Given the description of an element on the screen output the (x, y) to click on. 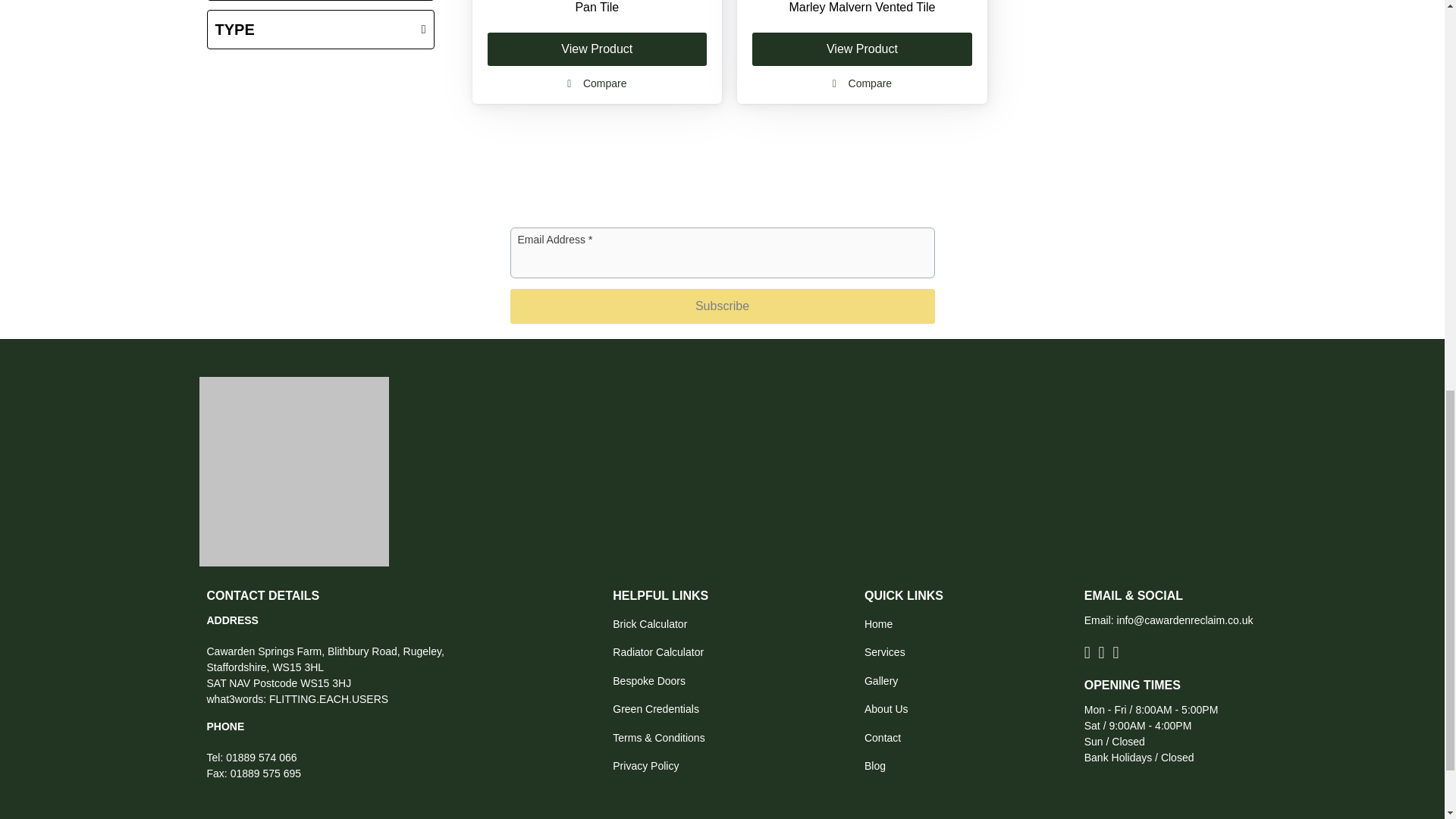
Call Us Today (265, 773)
Subscribe (721, 306)
Call Us Today (261, 757)
Contact Us Today (1184, 620)
